Given the description of an element on the screen output the (x, y) to click on. 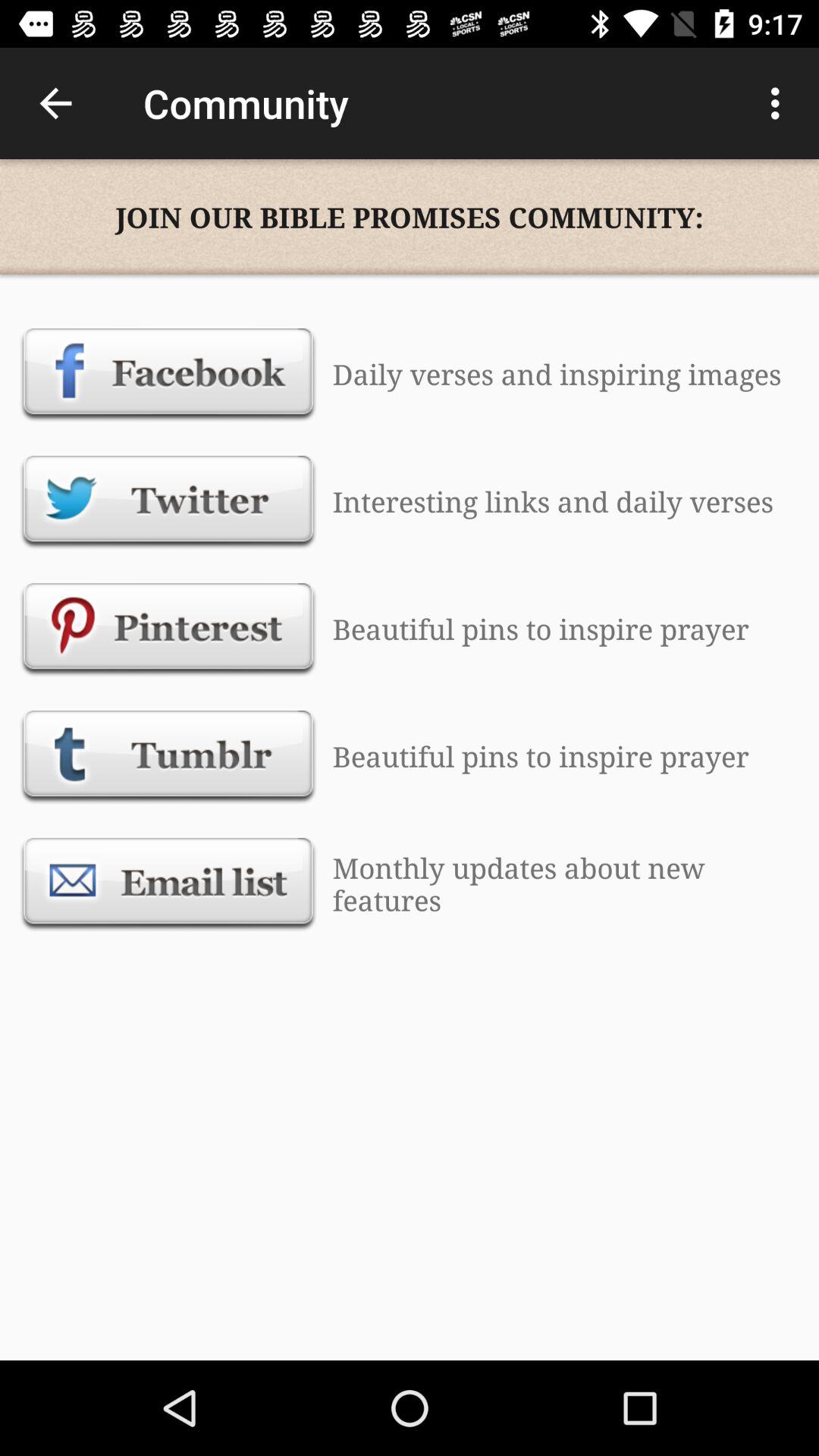
pinterest option (167, 628)
